Given the description of an element on the screen output the (x, y) to click on. 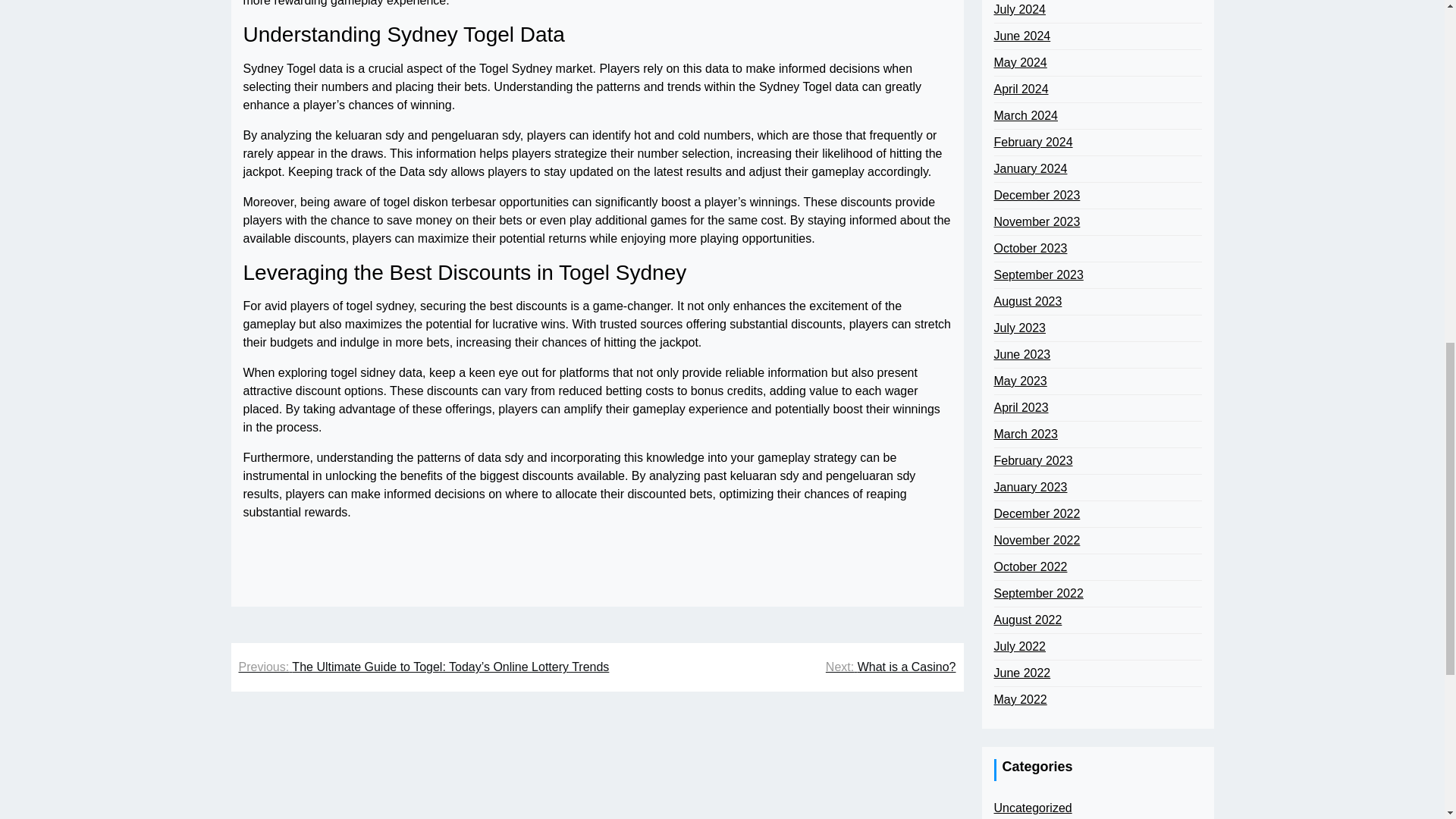
March 2024 (1025, 116)
February 2023 (1031, 461)
March 2023 (1025, 434)
July 2024 (1018, 9)
April 2024 (1020, 89)
Next: What is a Casino? (890, 667)
June 2024 (1020, 36)
July 2023 (1018, 328)
June 2023 (1020, 354)
October 2023 (1029, 248)
